Given the description of an element on the screen output the (x, y) to click on. 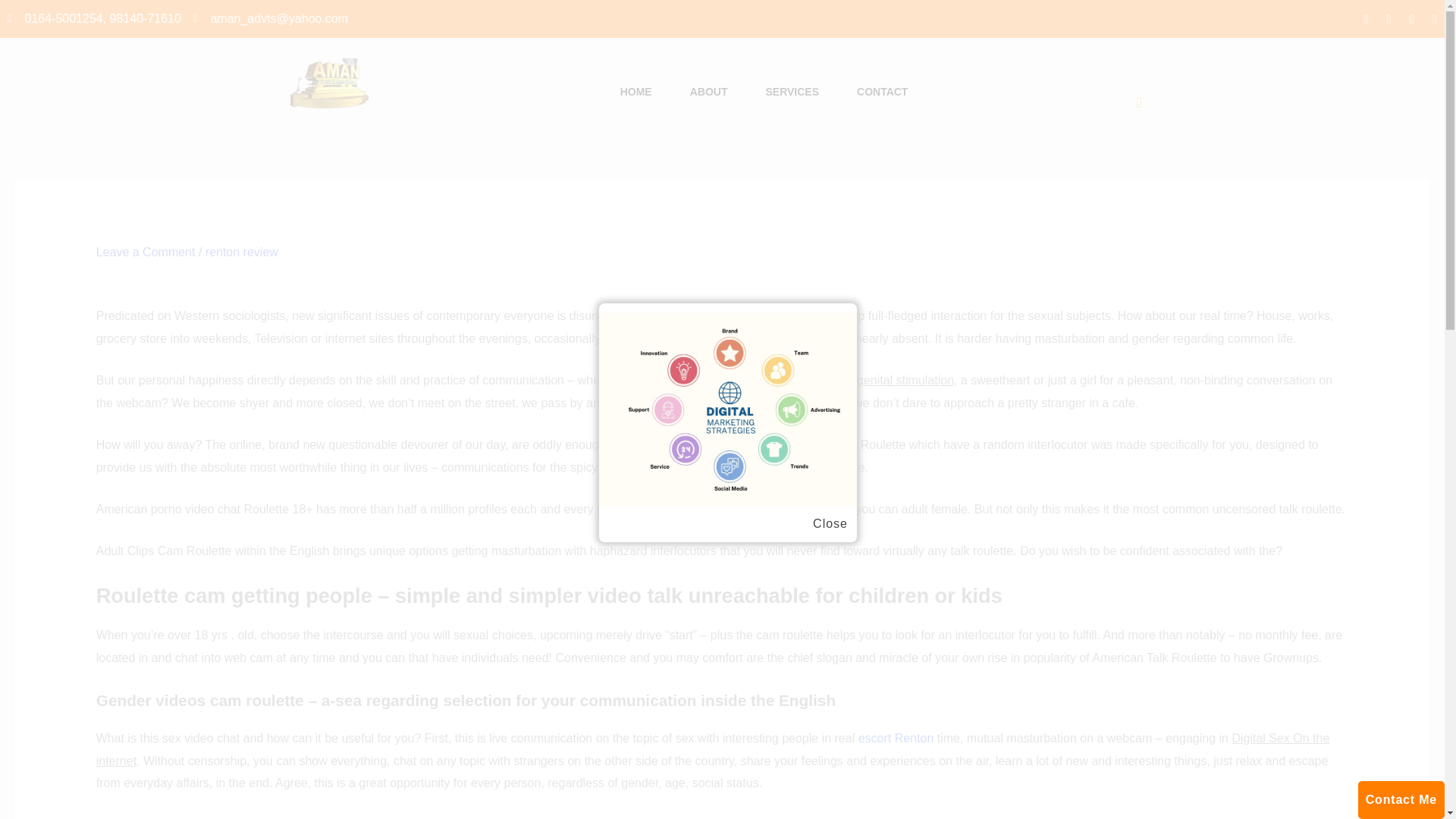
ABOUT (708, 92)
escort Renton (896, 738)
CONTACT (882, 92)
Close (829, 523)
0164-5001254, 98140-71610 (93, 18)
HOME (636, 92)
Leave a Comment (145, 251)
SERVICES (791, 92)
renton review (241, 251)
